Given the description of an element on the screen output the (x, y) to click on. 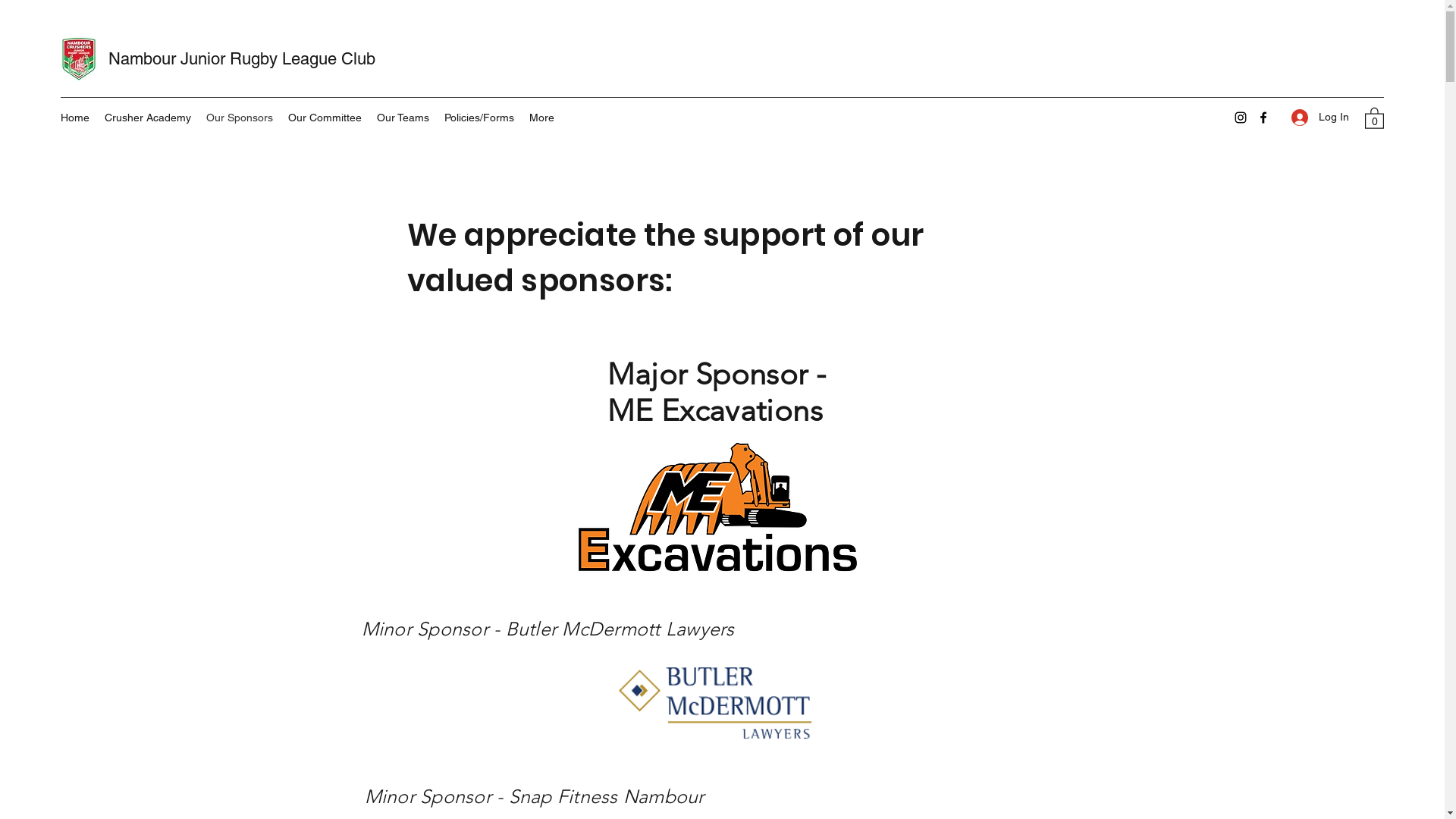
Our Sponsors Element type: text (239, 117)
Crusher Academy Element type: text (147, 117)
Home Element type: text (75, 117)
Our Committee Element type: text (324, 117)
Log In Element type: text (1319, 117)
Our Teams Element type: text (402, 117)
Policies/Forms Element type: text (478, 117)
Nambour Junior Rugby League Club Element type: text (241, 58)
Maudsley New logo.png Element type: hover (715, 505)
0 Element type: text (1374, 117)
